Given the description of an element on the screen output the (x, y) to click on. 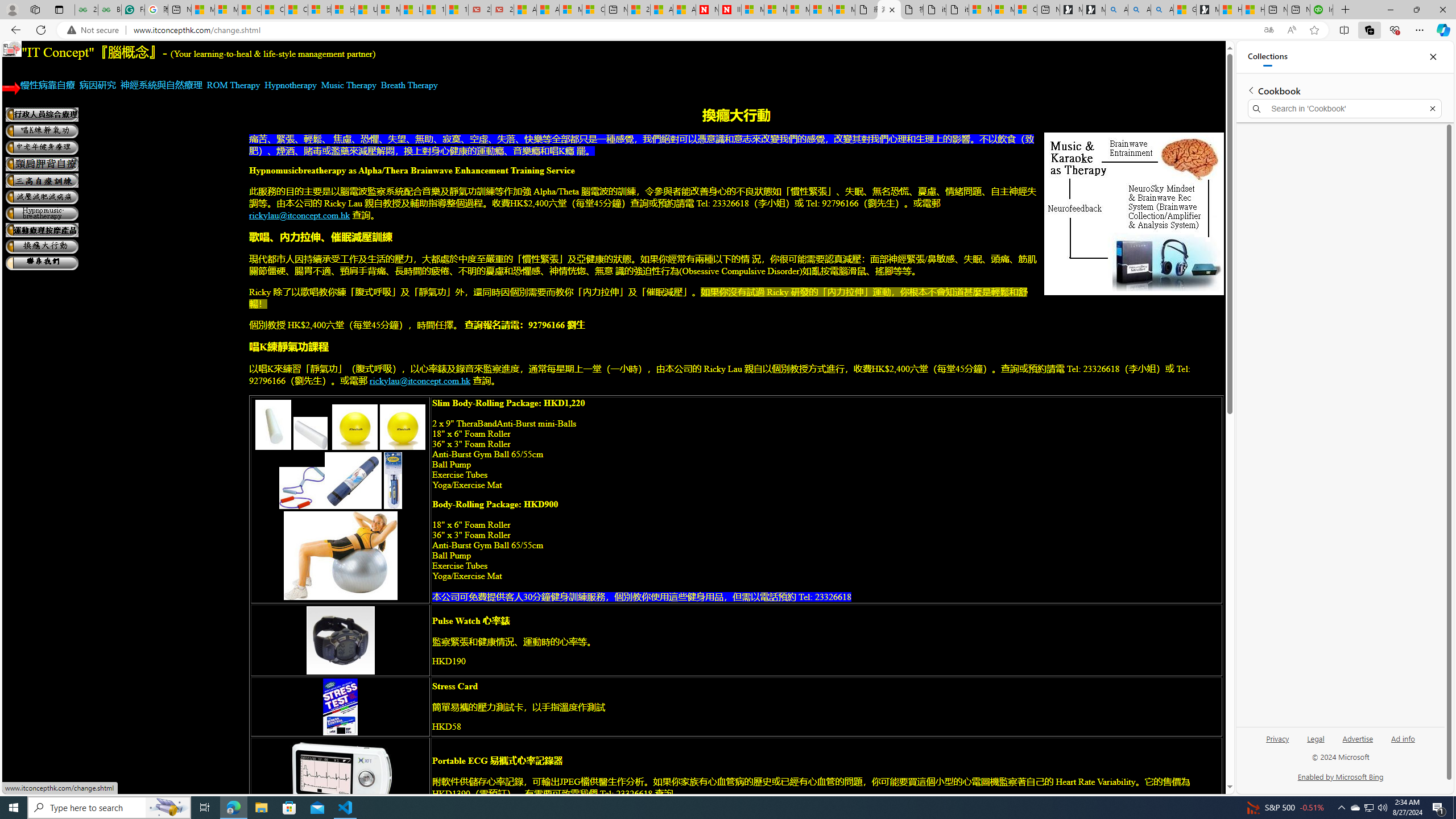
Advertise (1357, 738)
App bar (728, 29)
Consumer Health Data Privacy Policy (1025, 9)
Back to list of collections (1250, 90)
Add this page to favorites (Ctrl+D) (1314, 29)
Microsoft Services Agreement (775, 9)
Settings and more (Alt+F) (1419, 29)
rickylau@itconcept.com.hk (419, 380)
Minimize (1390, 9)
Exit search (1432, 108)
Privacy (1278, 738)
Music Therapy (349, 85)
